Given the description of an element on the screen output the (x, y) to click on. 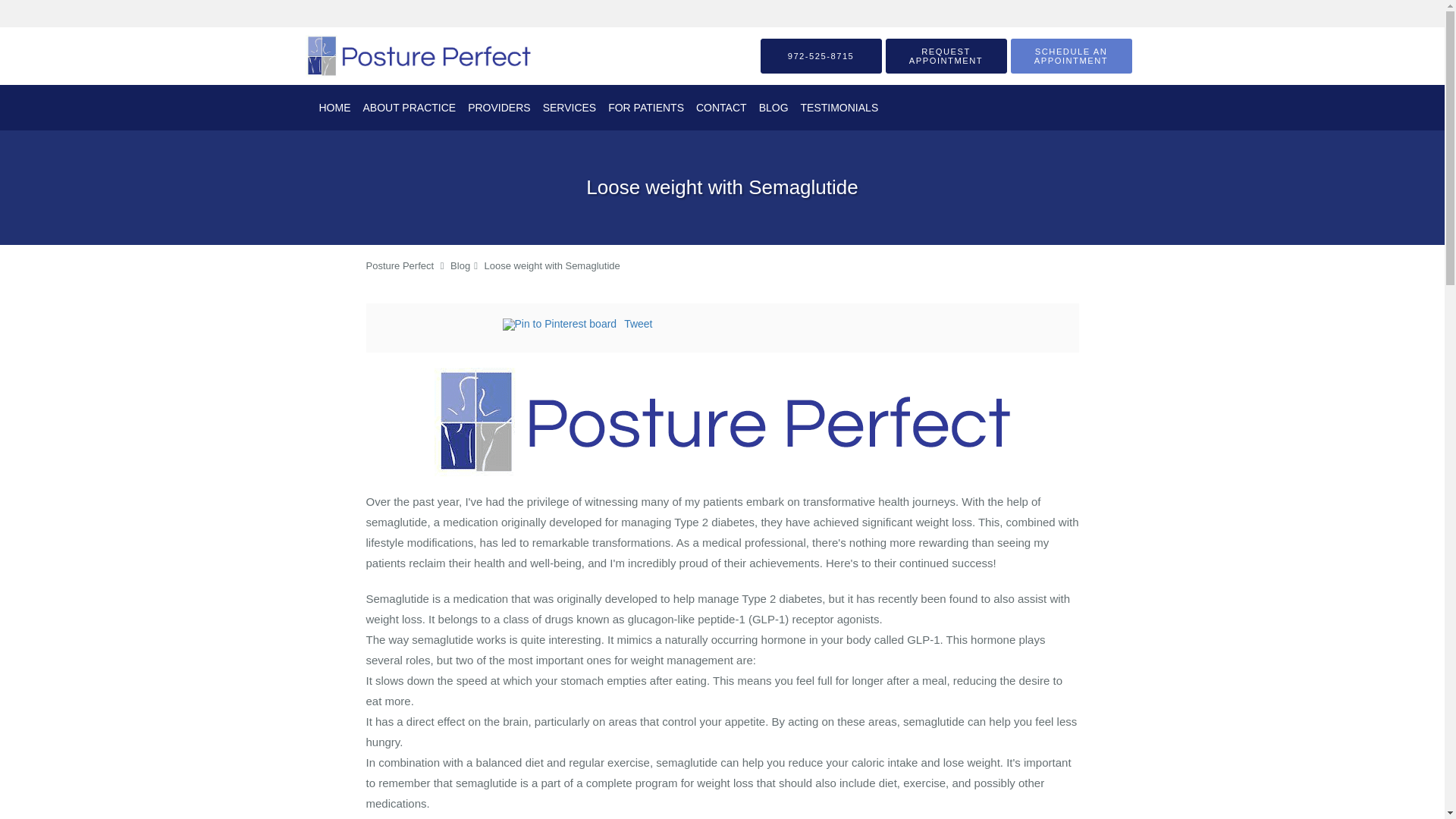
PROVIDERS (498, 107)
ABOUT PRACTICE (408, 107)
972-525-8715 (820, 55)
REQUEST APPOINTMENT (946, 55)
HOME (334, 107)
SCHEDULE AN APPOINTMENT (1070, 55)
FOR PATIENTS (646, 107)
SERVICES (569, 107)
Facebook social button (441, 326)
